Given the description of an element on the screen output the (x, y) to click on. 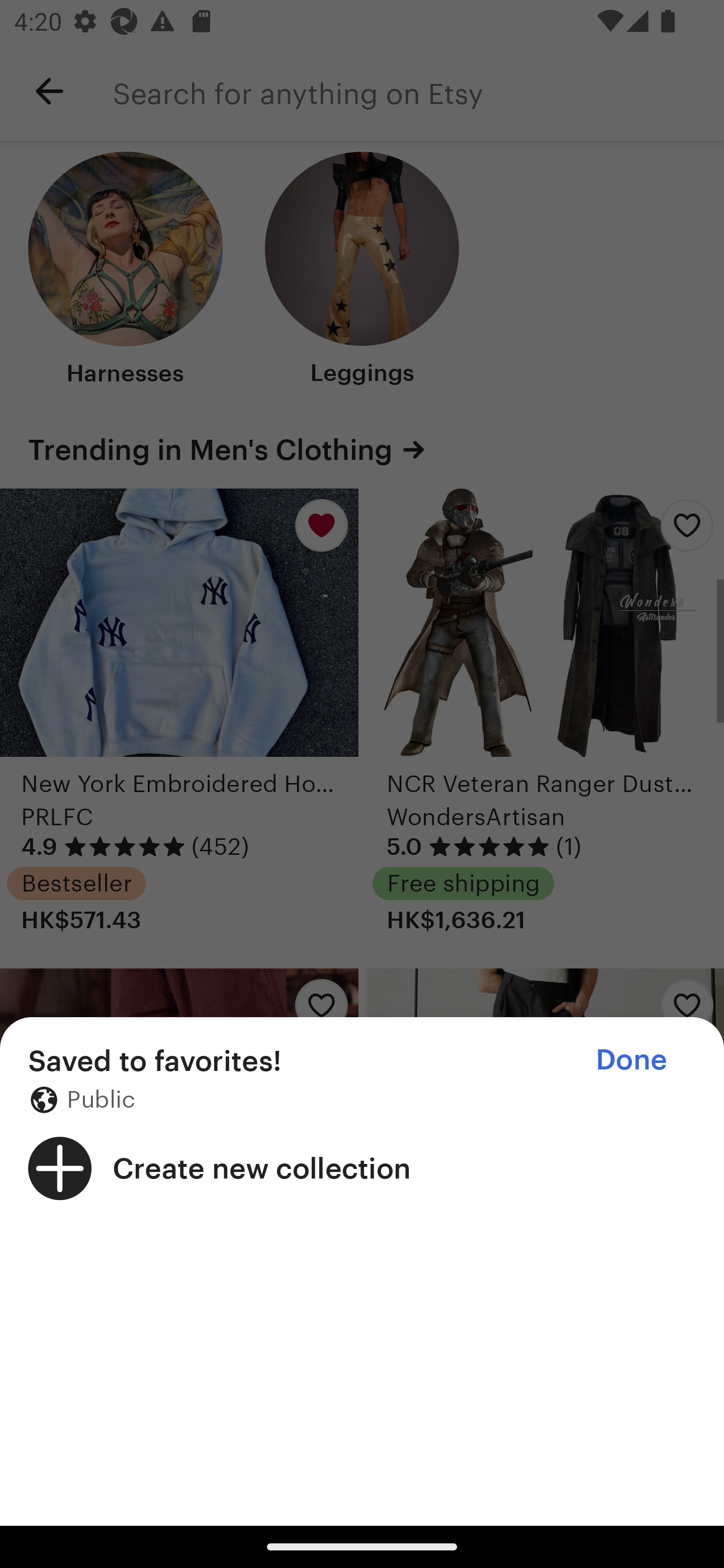
Done (630, 1059)
Create new collection (361, 1167)
